Given the description of an element on the screen output the (x, y) to click on. 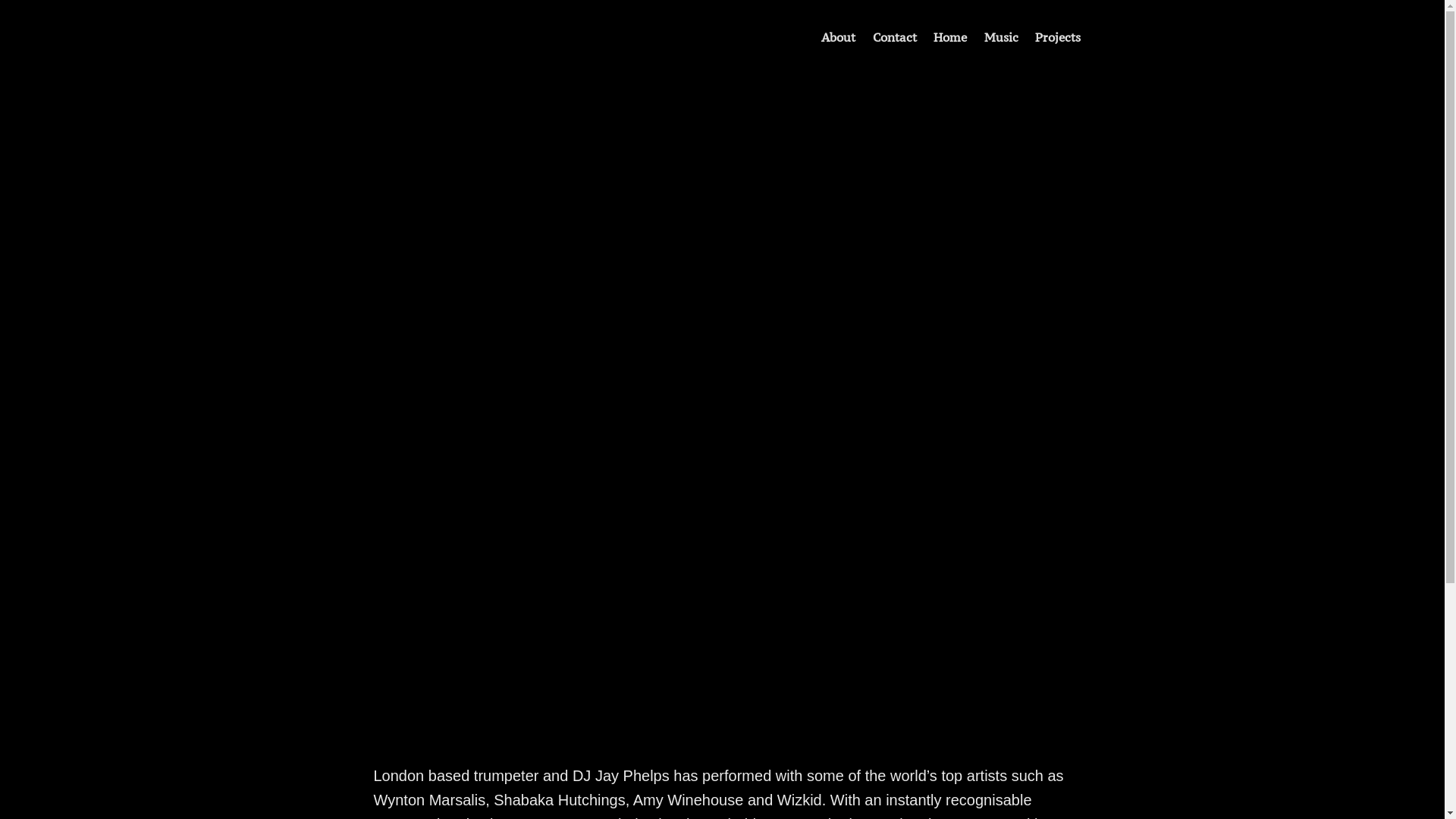
Contact Element type: text (894, 36)
Music Element type: text (1001, 36)
Projects Element type: text (1057, 36)
Home Element type: text (949, 36)
About Element type: text (838, 36)
